Given the description of an element on the screen output the (x, y) to click on. 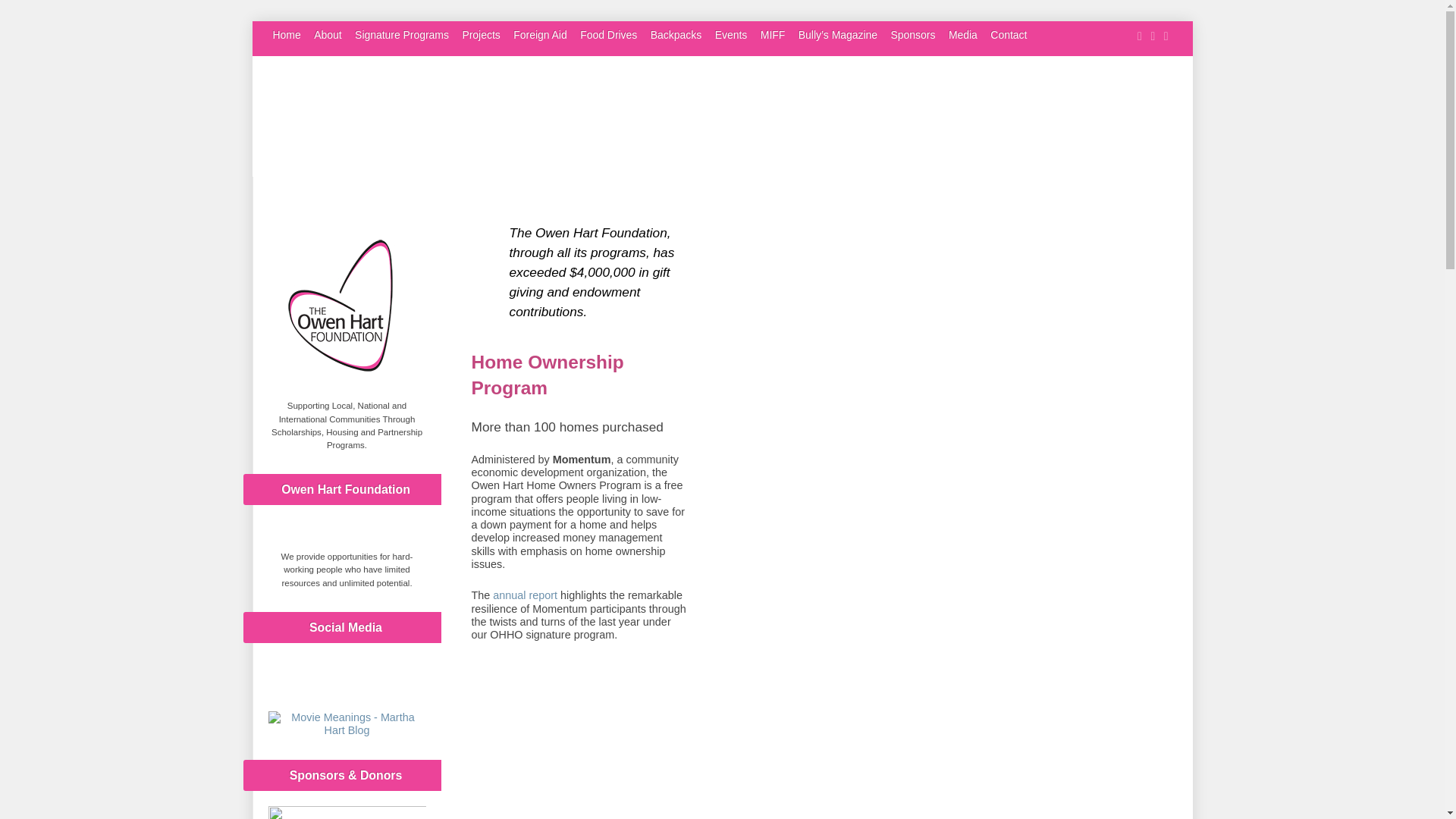
Instagram (387, 673)
About (327, 35)
Facebook (305, 673)
Facebook (305, 681)
Foreign Aid (539, 35)
Signature Programs (401, 35)
Projects (480, 35)
Twitter (346, 681)
Food Drives (608, 35)
Instagram (387, 681)
Twitter (346, 673)
2022 Grads of the Home Ownership Program (938, 750)
